Given the description of an element on the screen output the (x, y) to click on. 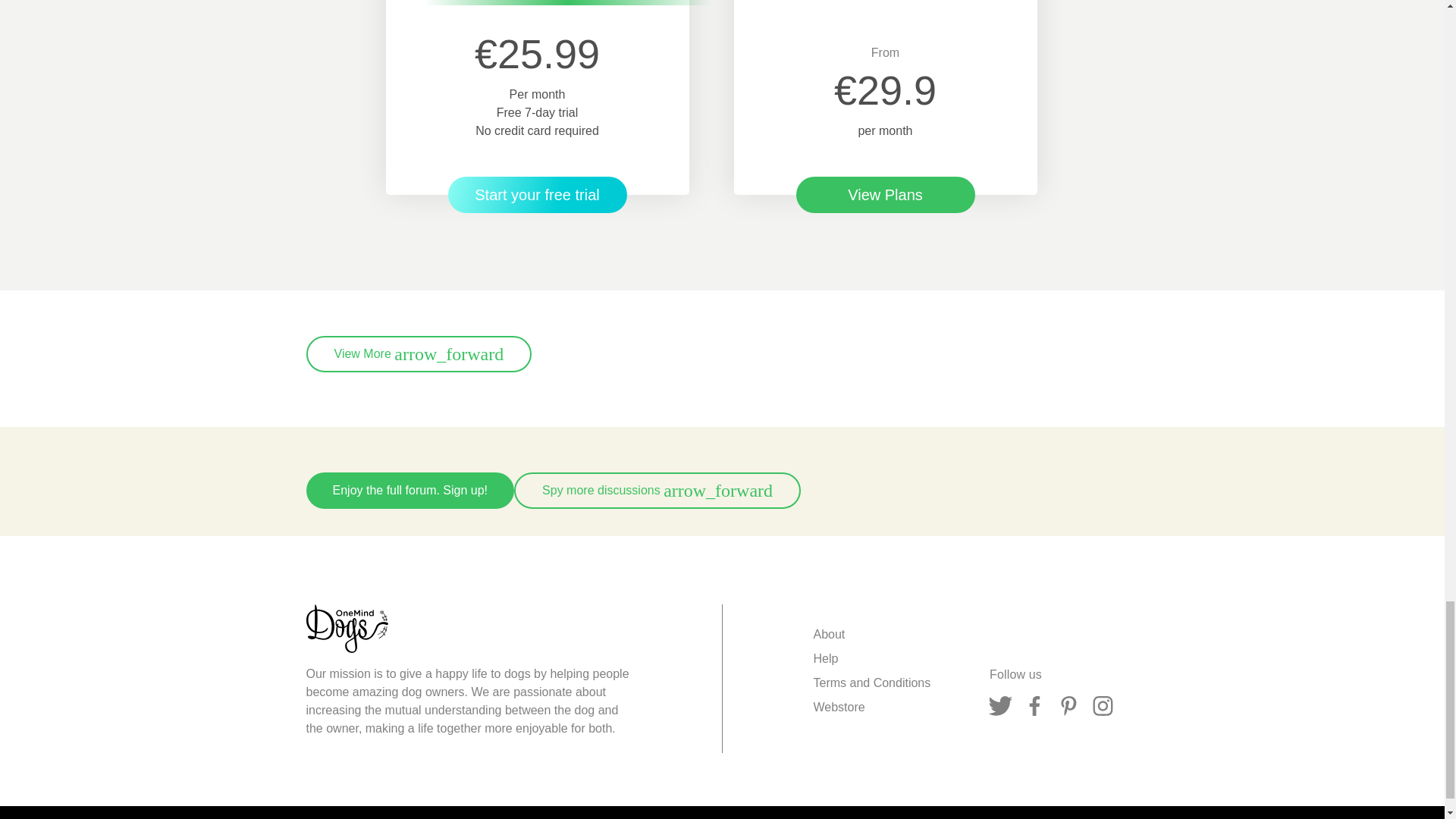
Enjoy the full forum. Sign up! (410, 490)
webstore (838, 707)
Twitter (1000, 706)
About (828, 634)
Discover Puppy Training (536, 194)
Sign Up (410, 490)
Blog (418, 353)
Forum (656, 490)
Terms and Conditions (871, 683)
Pinterest (1068, 706)
